Given the description of an element on the screen output the (x, y) to click on. 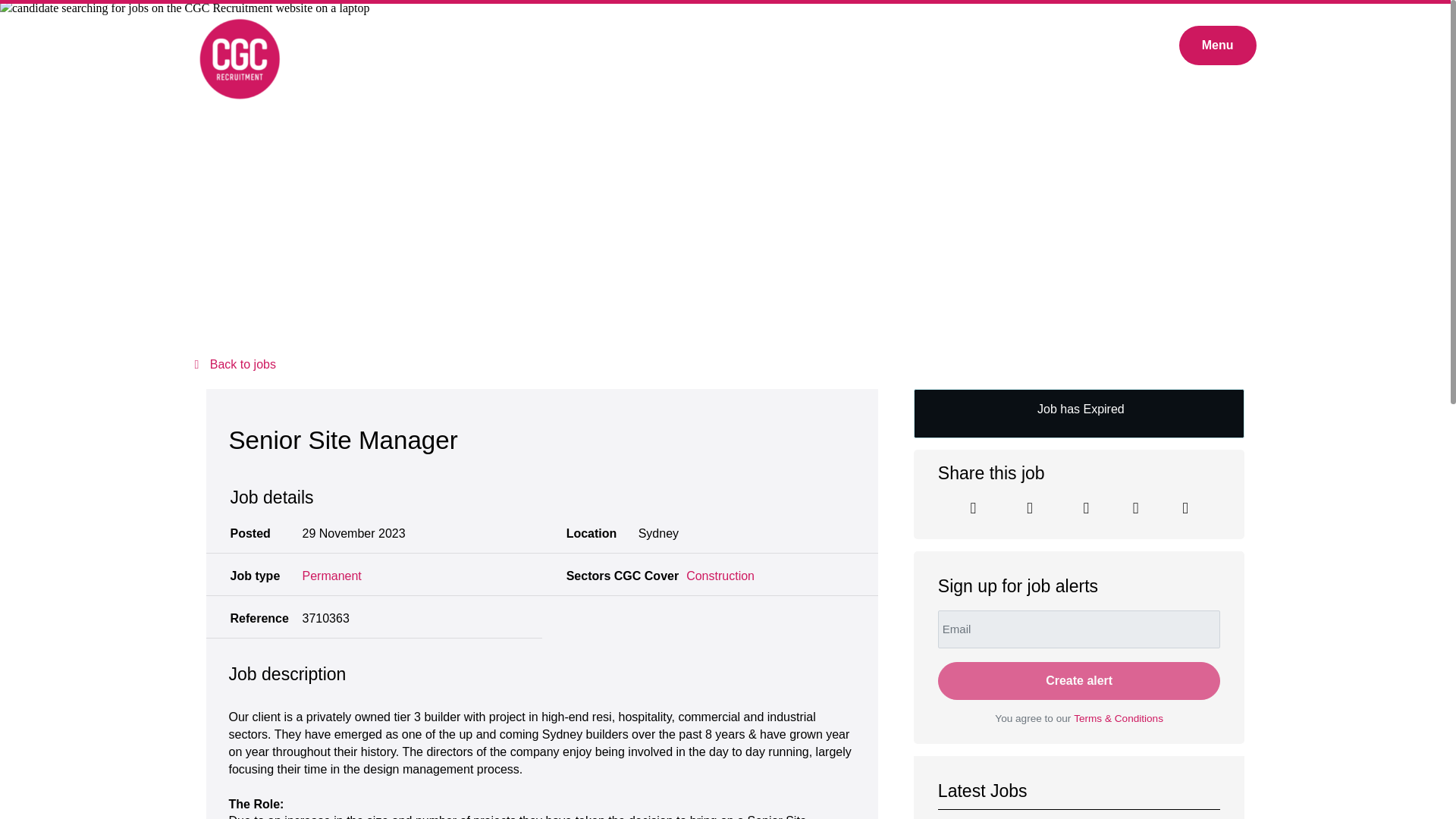
Menu (1217, 45)
Timesheet login (1126, 45)
